Given the description of an element on the screen output the (x, y) to click on. 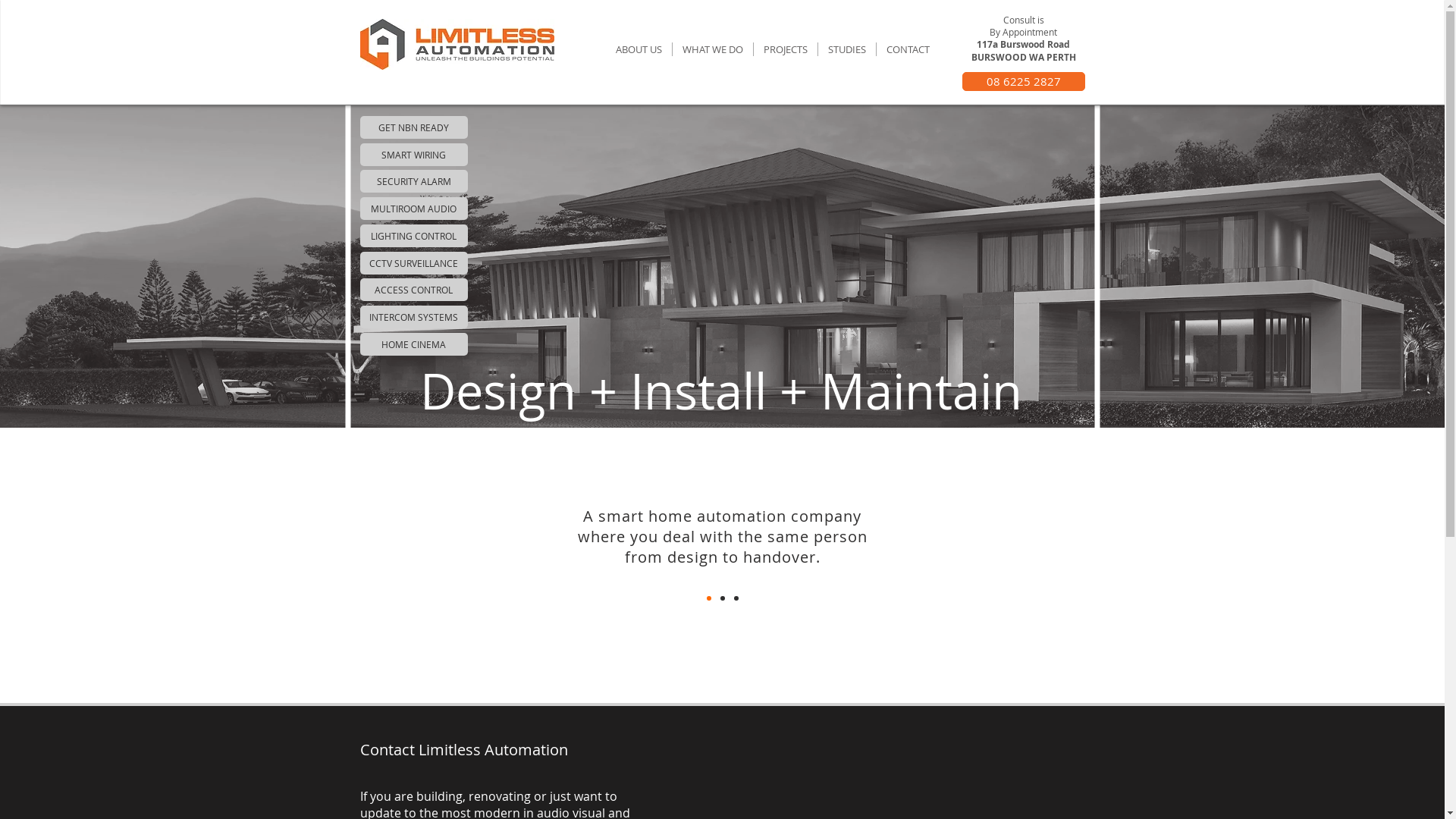
STUDIES Element type: text (846, 49)
CONTACT Element type: text (907, 49)
CCTV SURVEILLANCE Element type: text (413, 262)
SMART WIRING Element type: text (413, 154)
LIGHTING CONTROL Element type: text (413, 235)
ACCESS CONTROL Element type: text (413, 289)
ABOUT US Element type: text (638, 49)
117a Burswood Road
BURSWOOD WA PERTH Element type: text (1022, 49)
08 6225 2827 Element type: text (1022, 81)
MULTIROOM AUDIO Element type: text (413, 208)
SECURITY ALARM Element type: text (413, 180)
MAKE APPOINTMENT Element type: text (1035, 87)
HOME CINEMA Element type: text (413, 343)
PROJECTS Element type: text (785, 49)
INTERCOM SYSTEMS Element type: text (413, 316)
GET NBN READY Element type: text (413, 127)
WHAT WE DO Element type: text (711, 49)
Dollarphotoclub_55898199.jpg Element type: hover (851, 138)
